Given the description of an element on the screen output the (x, y) to click on. 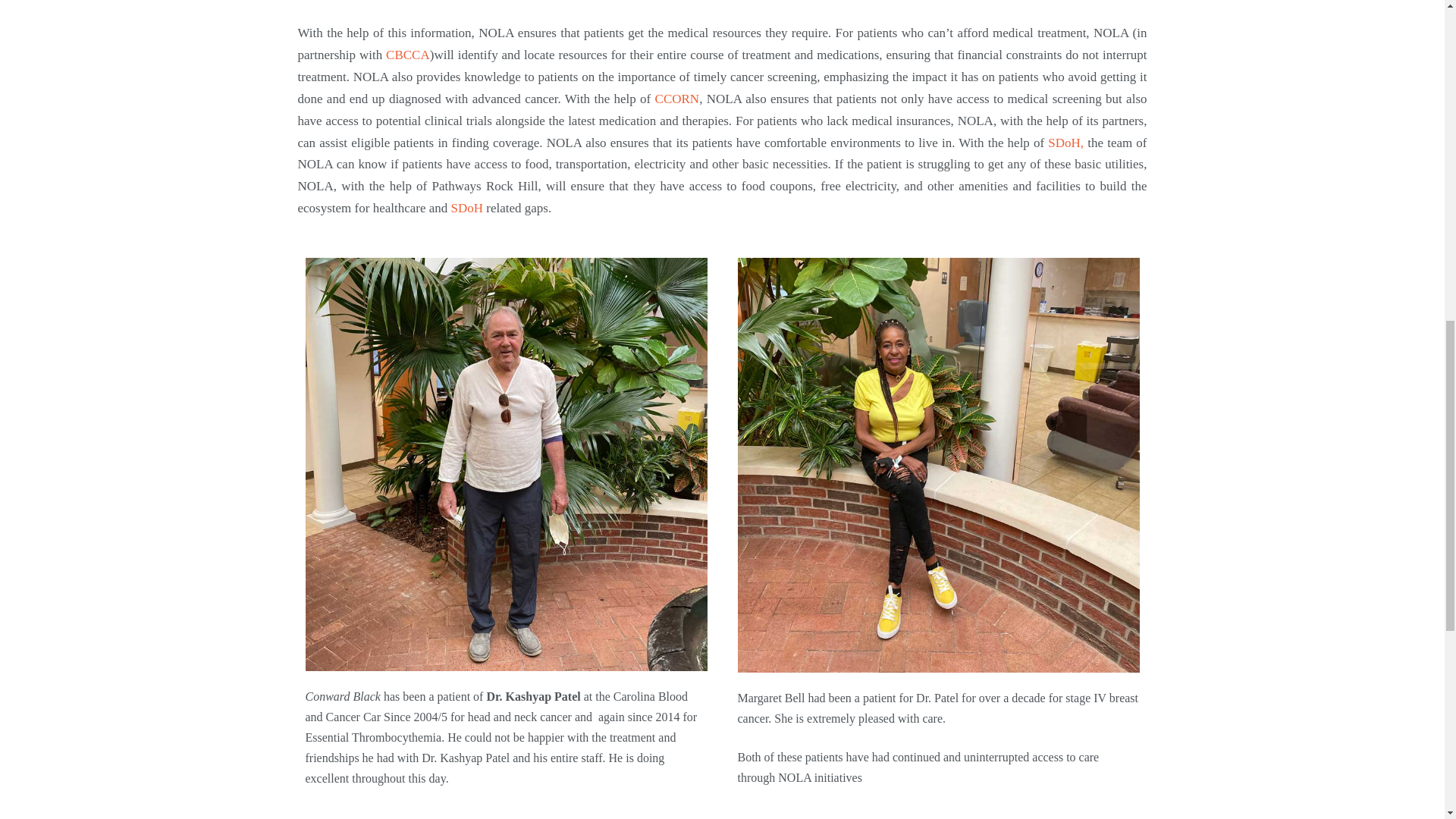
SDoH, (1065, 142)
CCORN (677, 98)
CBCCA (407, 54)
SDoH (467, 207)
